Given the description of an element on the screen output the (x, y) to click on. 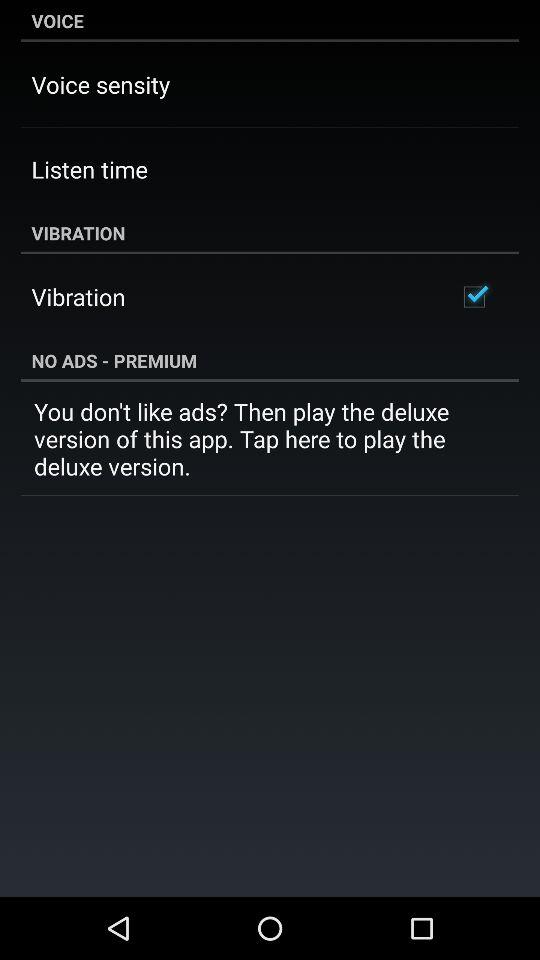
press the item below voice (100, 84)
